Given the description of an element on the screen output the (x, y) to click on. 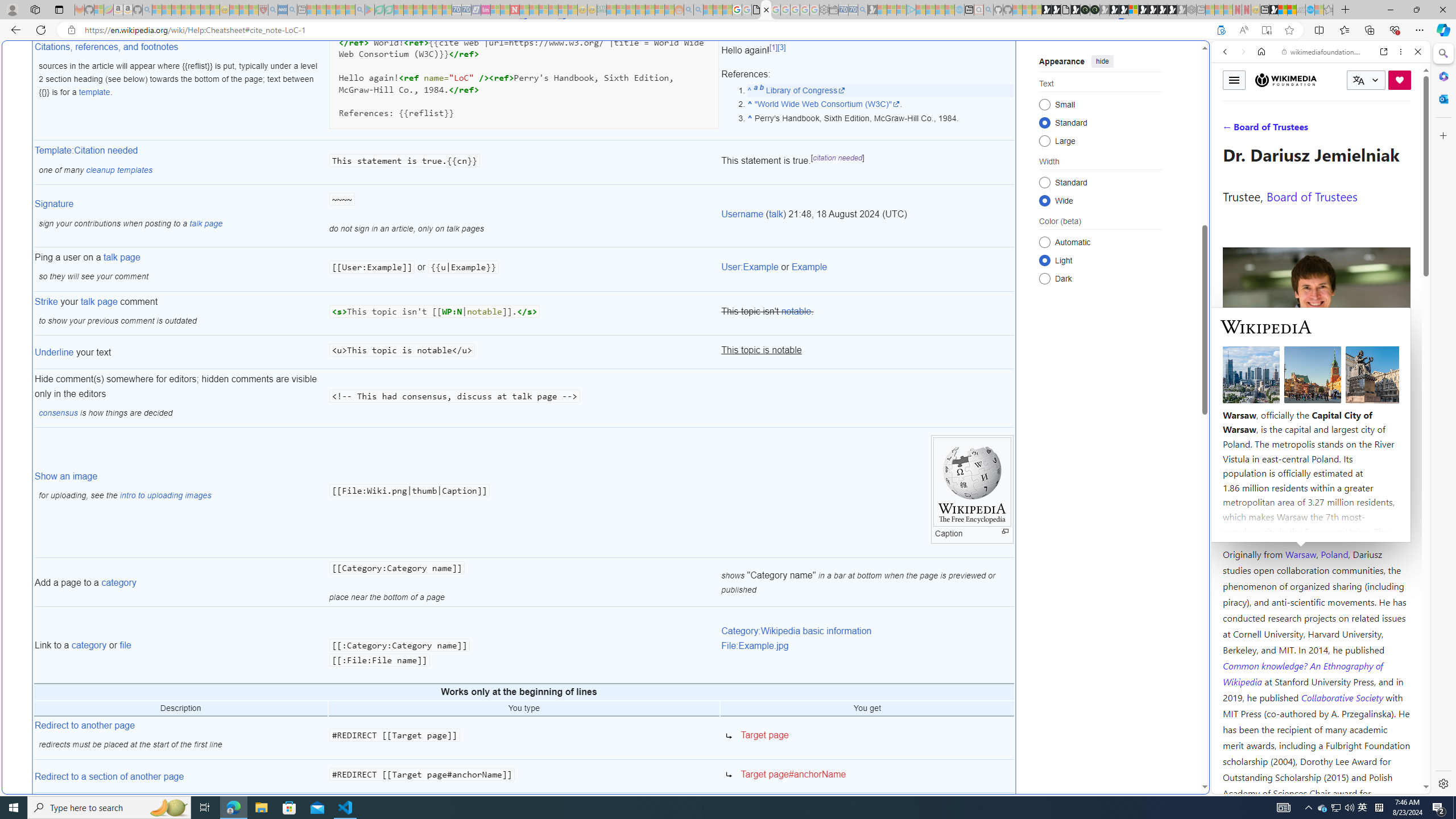
<!-- This had consensus, discuss at talk page --> (523, 398)
Underline (54, 352)
Jump up to: a (755, 90)
This topic isn't notable. (866, 313)
